Given the description of an element on the screen output the (x, y) to click on. 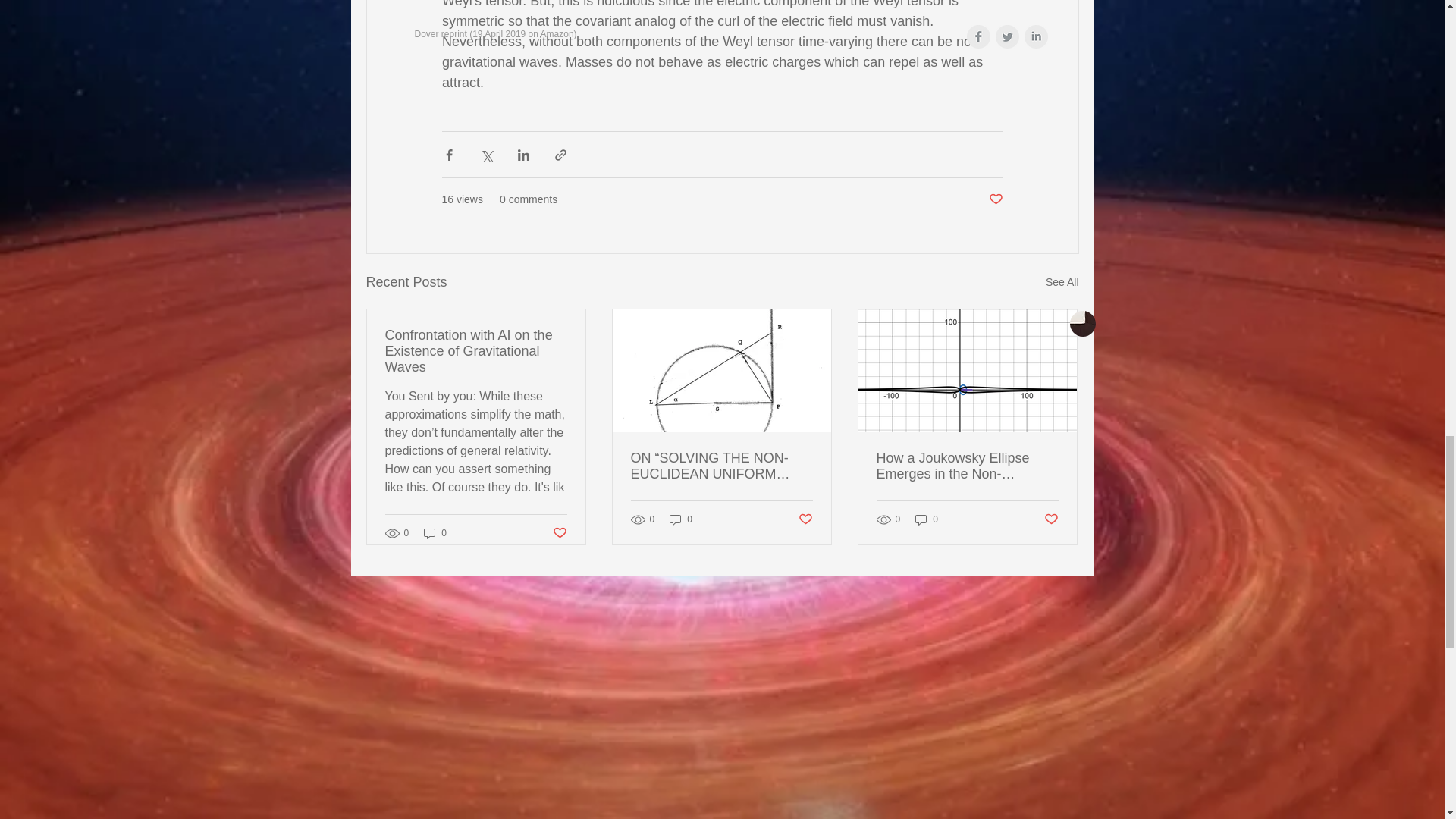
Post not marked as liked (804, 519)
Post not marked as liked (1050, 519)
0 (435, 533)
Post not marked as liked (995, 199)
Post not marked as liked (558, 532)
0 (926, 519)
0 (681, 519)
See All (1061, 282)
